Given the description of an element on the screen output the (x, y) to click on. 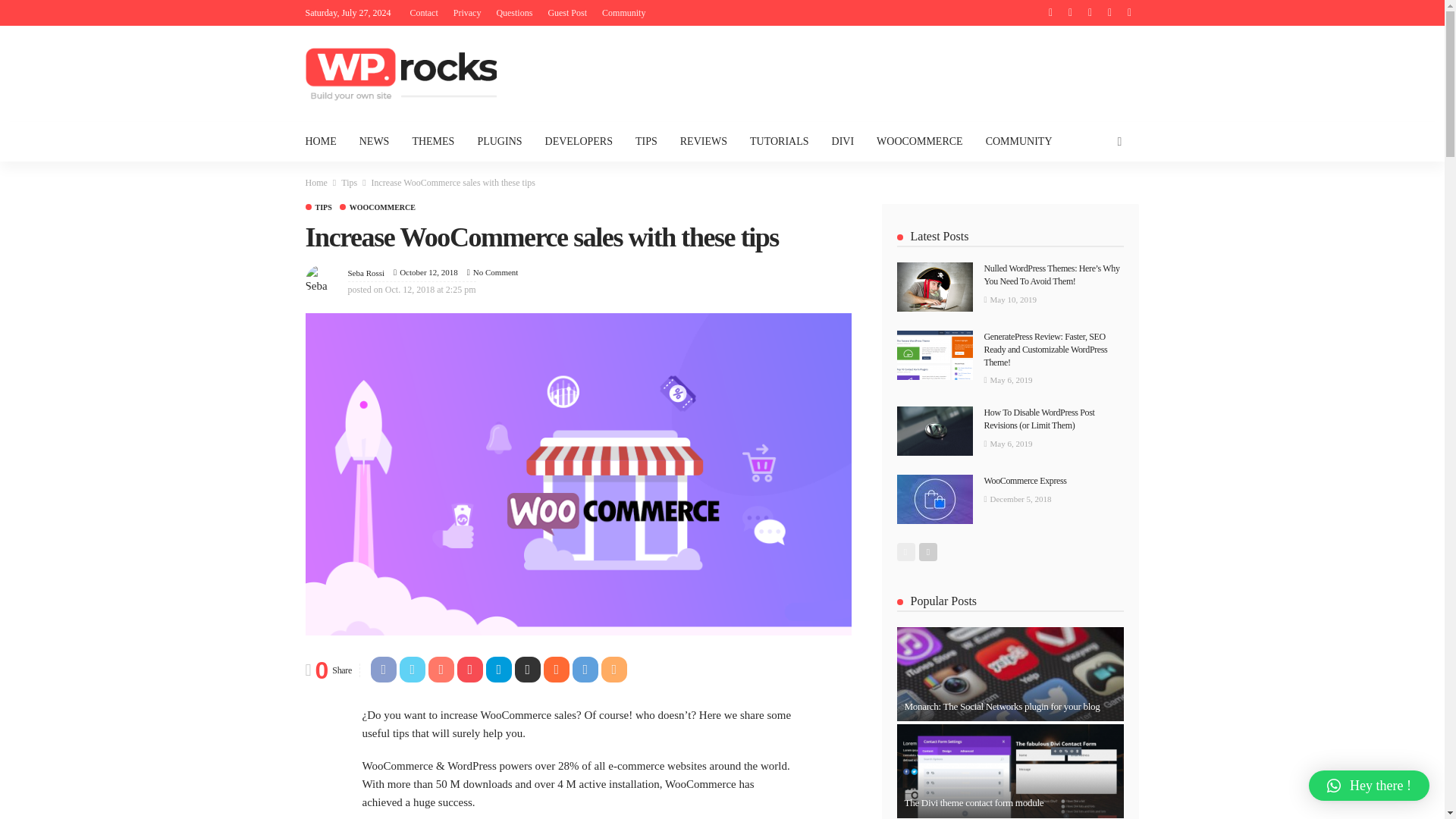
Advertisement (862, 70)
Questions (513, 12)
THEMES (432, 141)
Guest Post (567, 12)
Community (623, 12)
NEWS (374, 141)
Contact (423, 12)
Privacy (467, 12)
HOME (325, 141)
PLUGINS (498, 141)
